Given the description of an element on the screen output the (x, y) to click on. 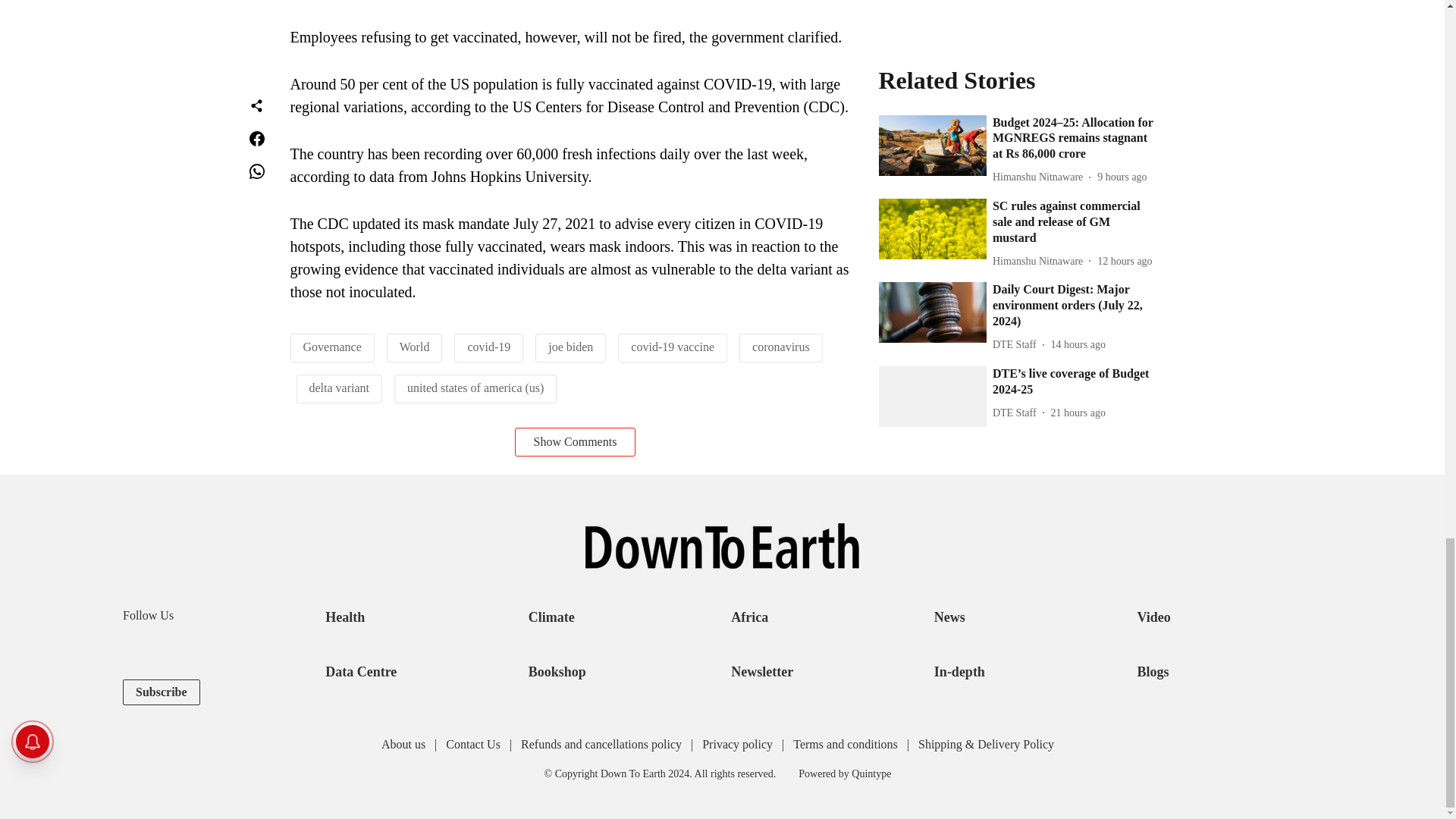
World (413, 346)
Governance (331, 346)
